Given the description of an element on the screen output the (x, y) to click on. 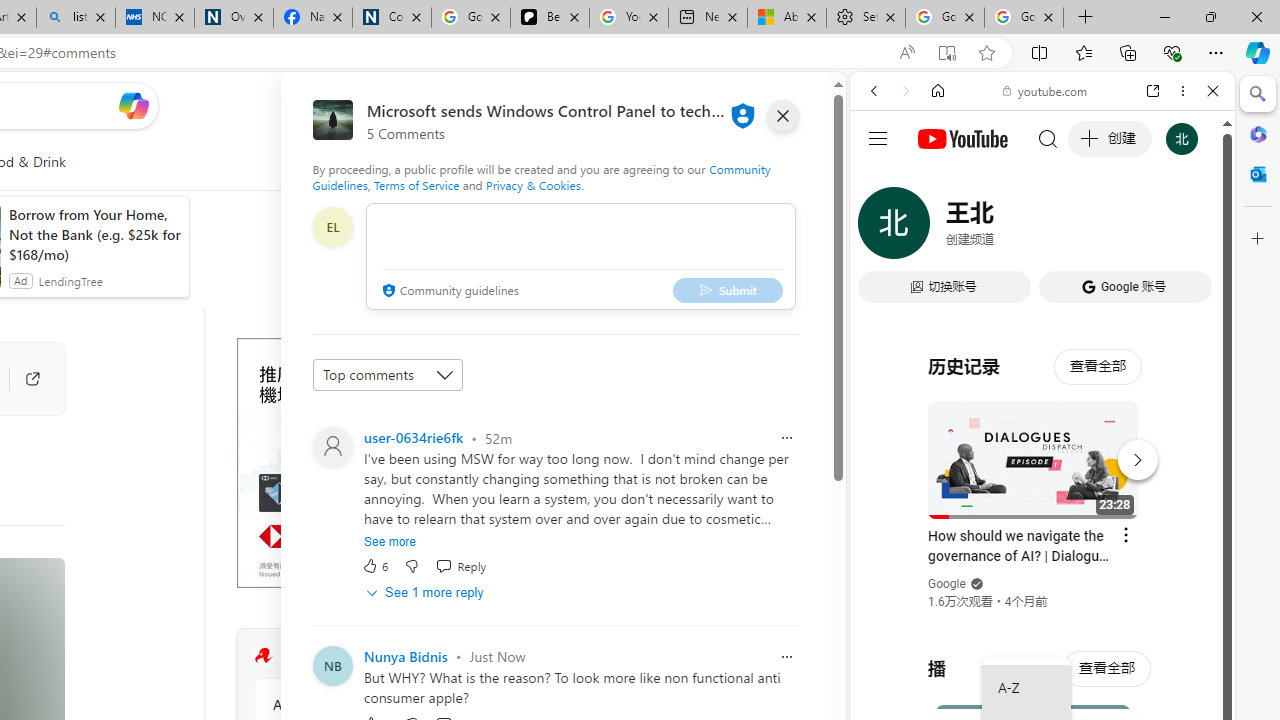
A-Z (1026, 688)
Visit The Register website (511, 655)
Web scope (882, 180)
Report comment (786, 656)
Aberdeen, Hong Kong SAR hourly forecast | Microsoft Weather (786, 17)
Trailer #2 [HD] (1042, 592)
youtube.com (1046, 90)
Google (1042, 494)
#you (1042, 445)
The Register (263, 655)
Search Filter, VIDEOS (1006, 228)
